Given the description of an element on the screen output the (x, y) to click on. 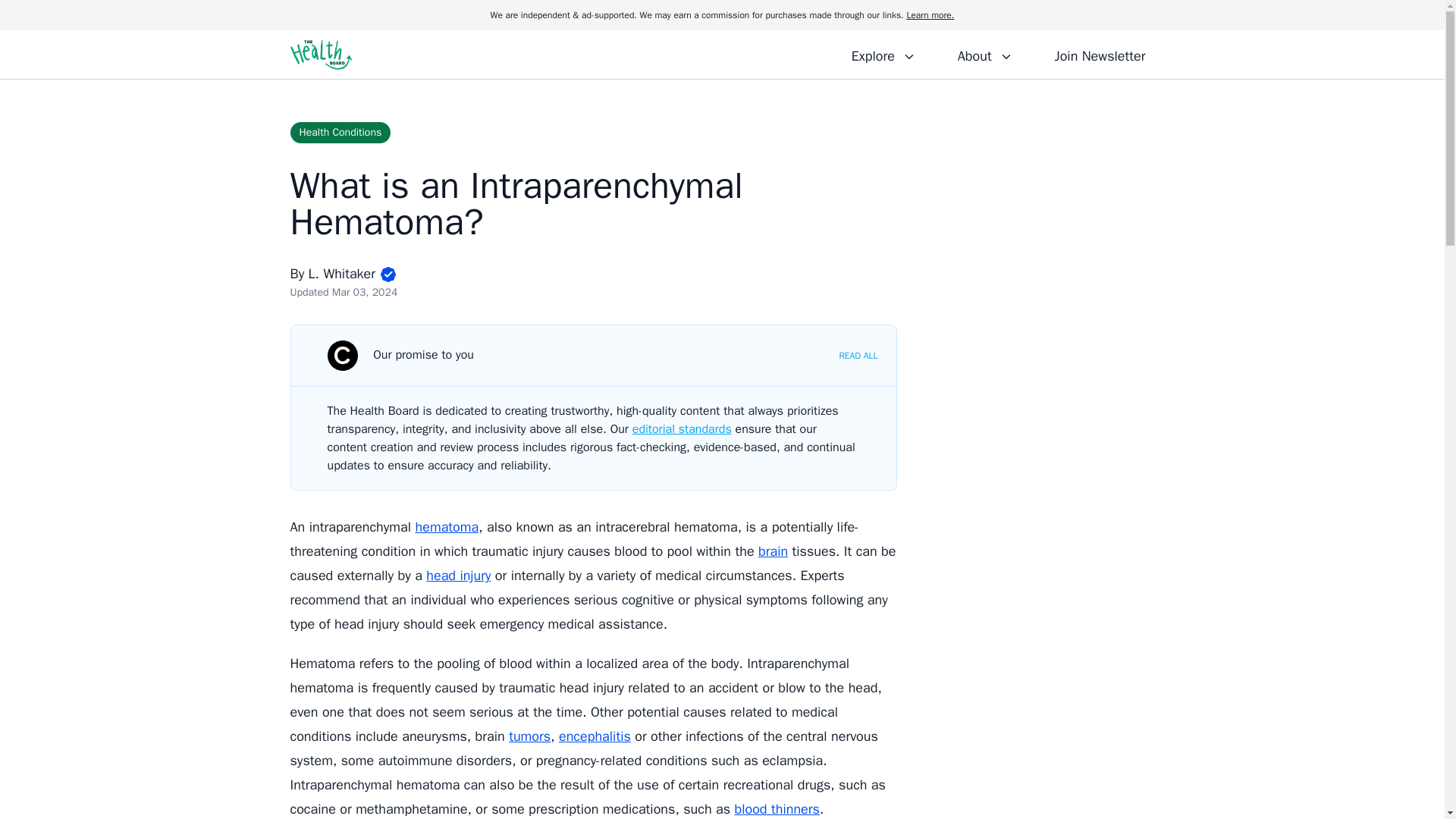
About (984, 54)
Learn more. (929, 15)
hematoma (446, 526)
Explore (883, 54)
Join Newsletter (1099, 54)
editorial standards (681, 429)
head injury (458, 575)
Health Conditions (339, 132)
encephalitis (594, 736)
brain (772, 550)
tumors (529, 736)
READ ALL (857, 355)
